Given the description of an element on the screen output the (x, y) to click on. 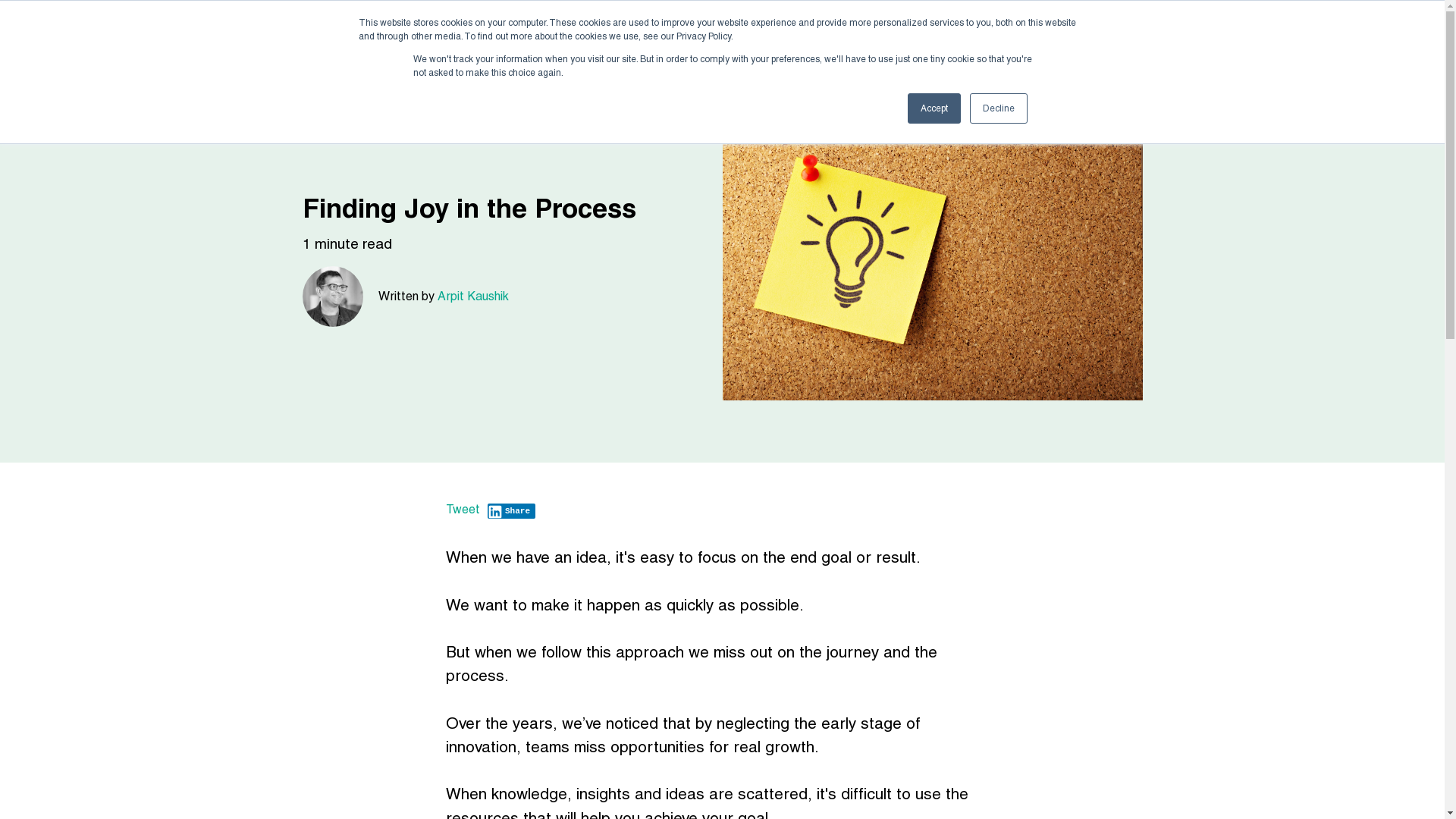
Arpit Kaushik Element type: text (472, 295)
Contact us Element type: text (1302, 28)
Share Element type: text (510, 510)
Decline Element type: text (997, 108)
Tweet Element type: text (462, 509)
Accept Element type: text (933, 108)
Hypha at work Element type: text (1097, 28)
About us Element type: text (1204, 28)
Blog Element type: text (1387, 28)
